Given the description of an element on the screen output the (x, y) to click on. 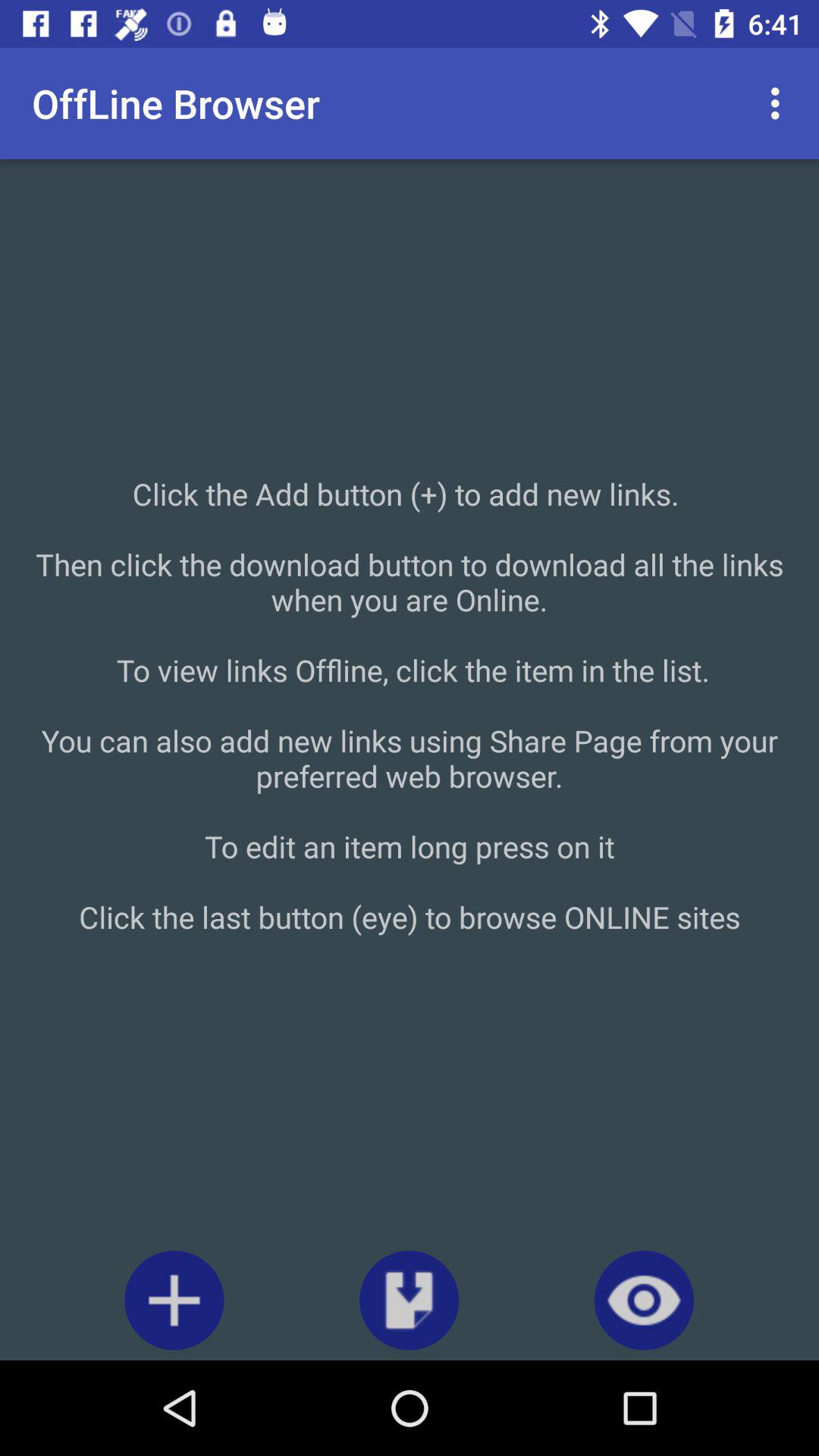
turn on app below click the add (174, 1300)
